Given the description of an element on the screen output the (x, y) to click on. 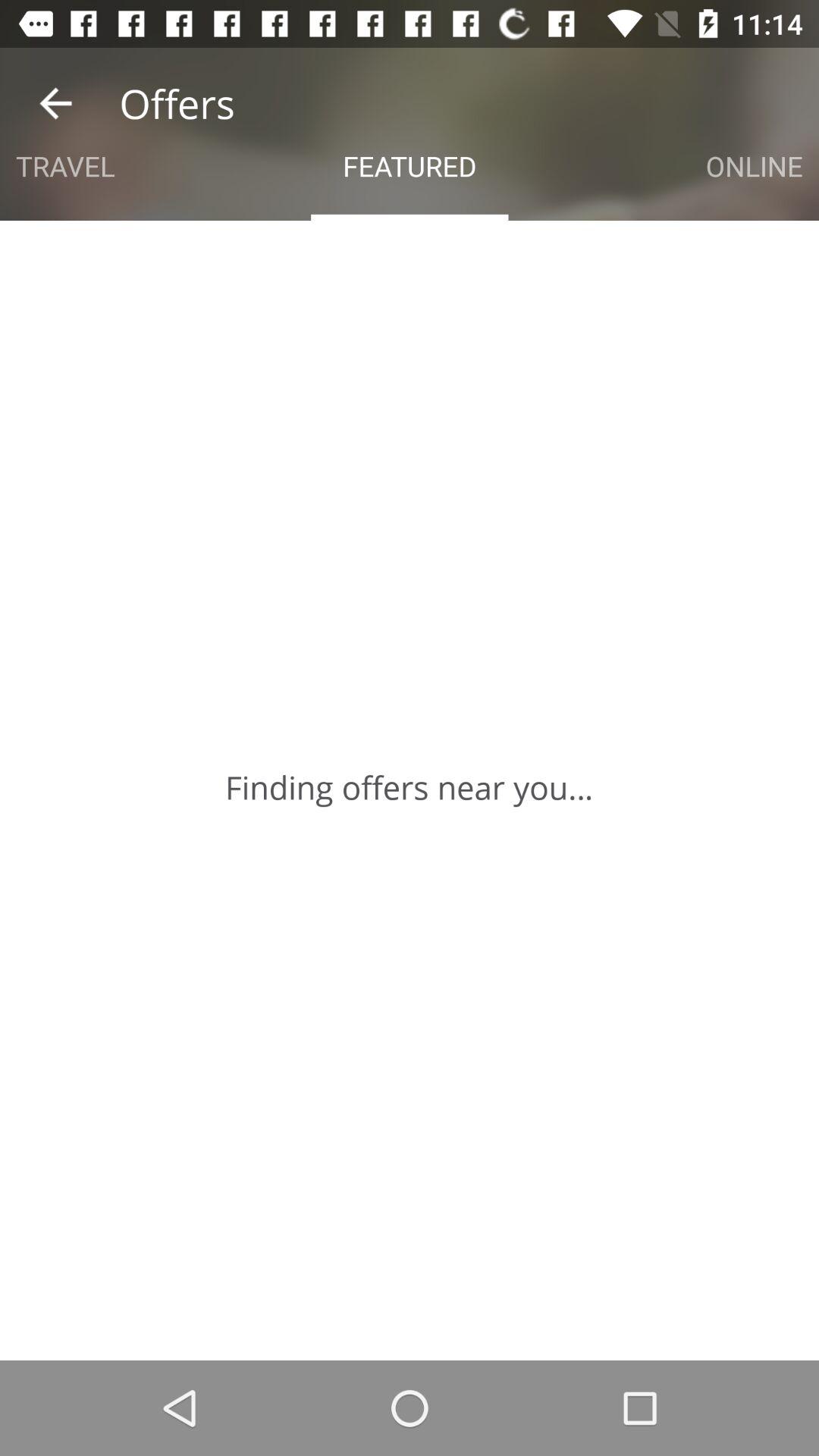
go back (55, 103)
